Given the description of an element on the screen output the (x, y) to click on. 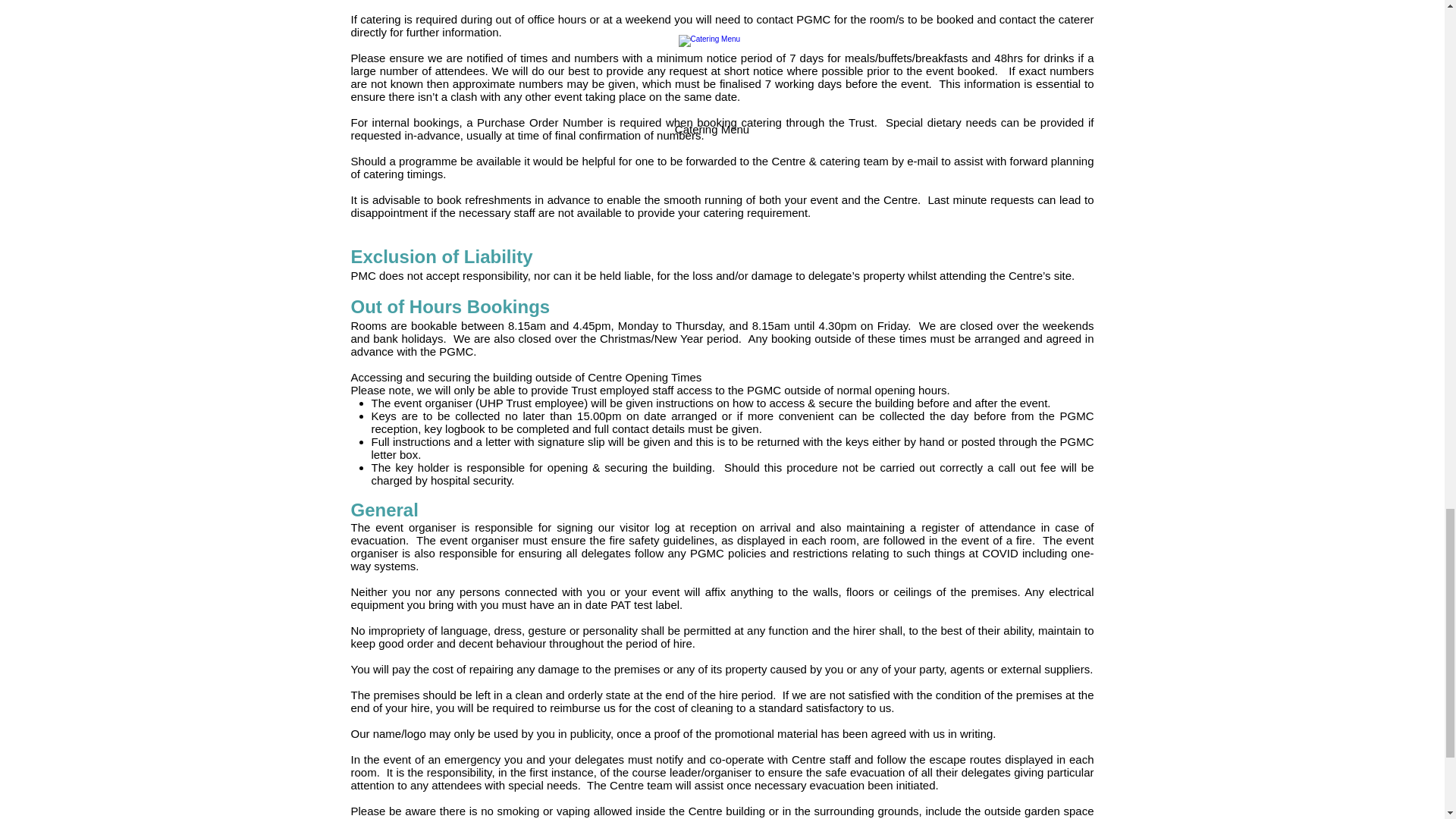
Catering Menu (712, 87)
Catering Menu (712, 87)
